Given the description of an element on the screen output the (x, y) to click on. 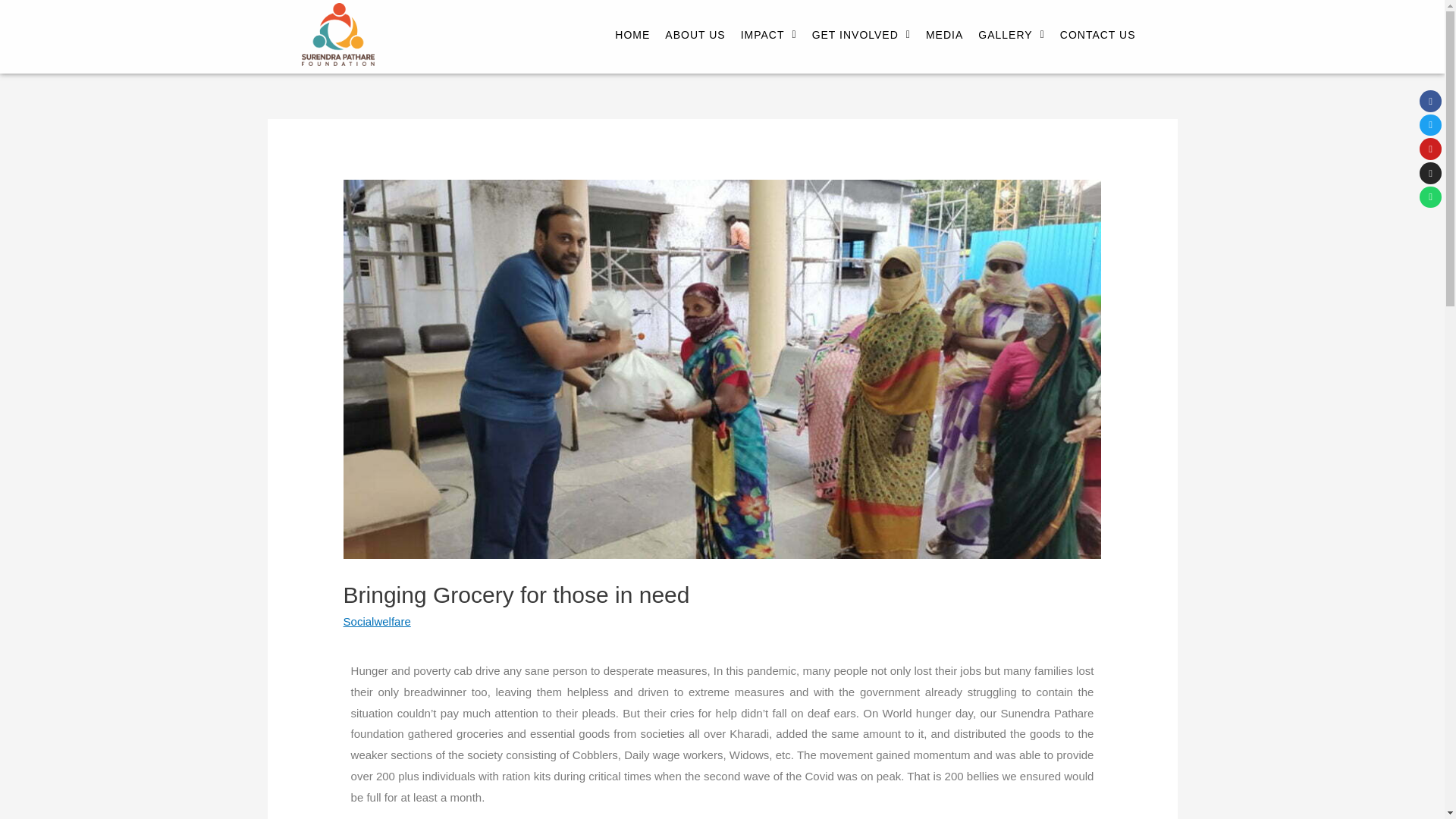
IMPACT (769, 2)
GET INVOLVED (861, 10)
MEDIA (944, 16)
GALLERY (1011, 17)
CONTACT US (1097, 22)
Socialwelfare (376, 621)
